Given the description of an element on the screen output the (x, y) to click on. 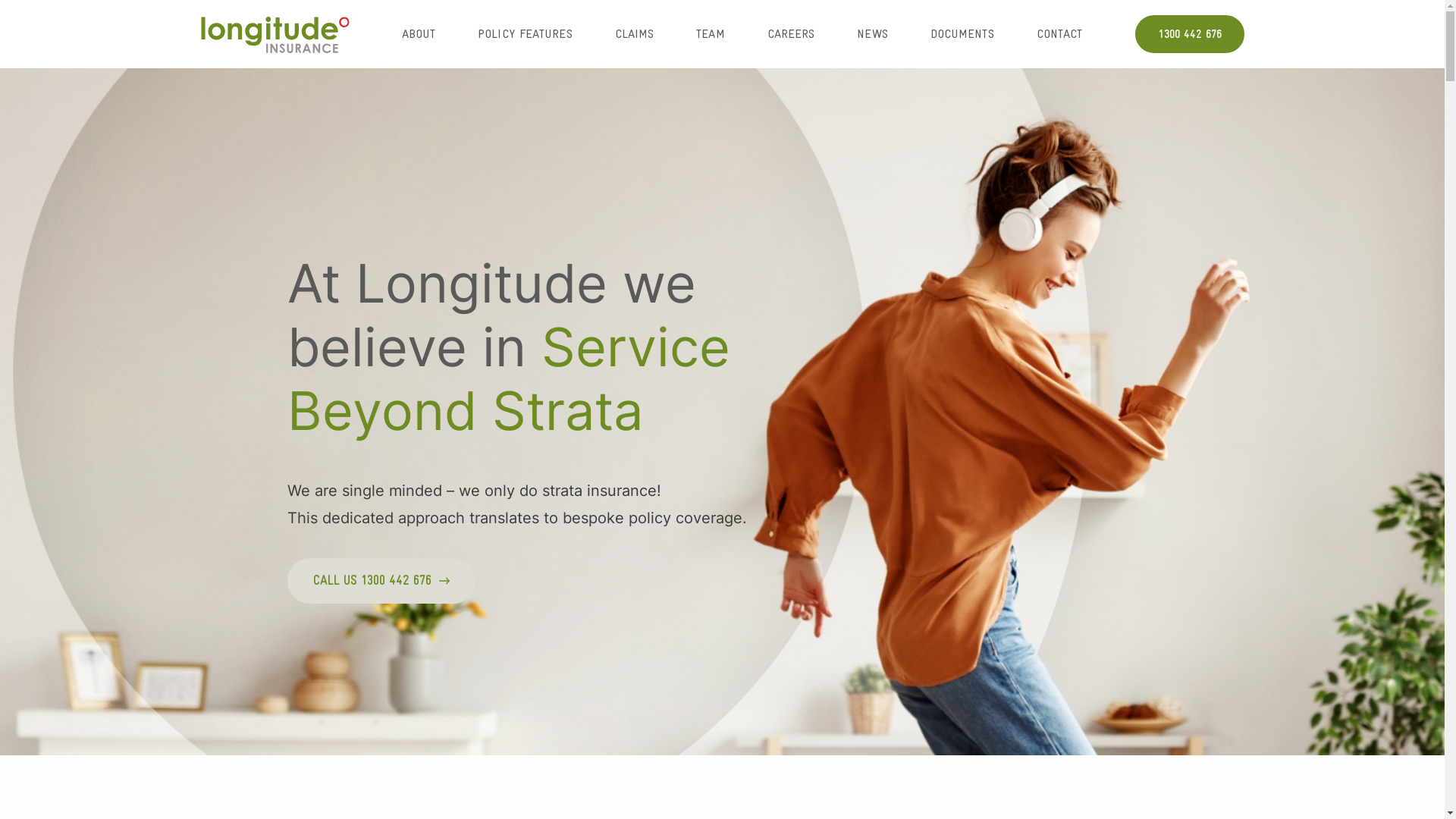
CONTACT Element type: text (1059, 34)
TEAM Element type: text (709, 34)
CAREERS Element type: text (791, 34)
1300 442 676 Element type: text (1188, 34)
CLAIMS Element type: text (634, 34)
Search Element type: text (25, 9)
NEWS Element type: text (871, 34)
POLICY FEATURES Element type: text (524, 34)
DOCUMENTS Element type: text (962, 34)
CALL US 1300 442 676 Element type: text (381, 580)
ABOUT Element type: text (418, 34)
